Given the description of an element on the screen output the (x, y) to click on. 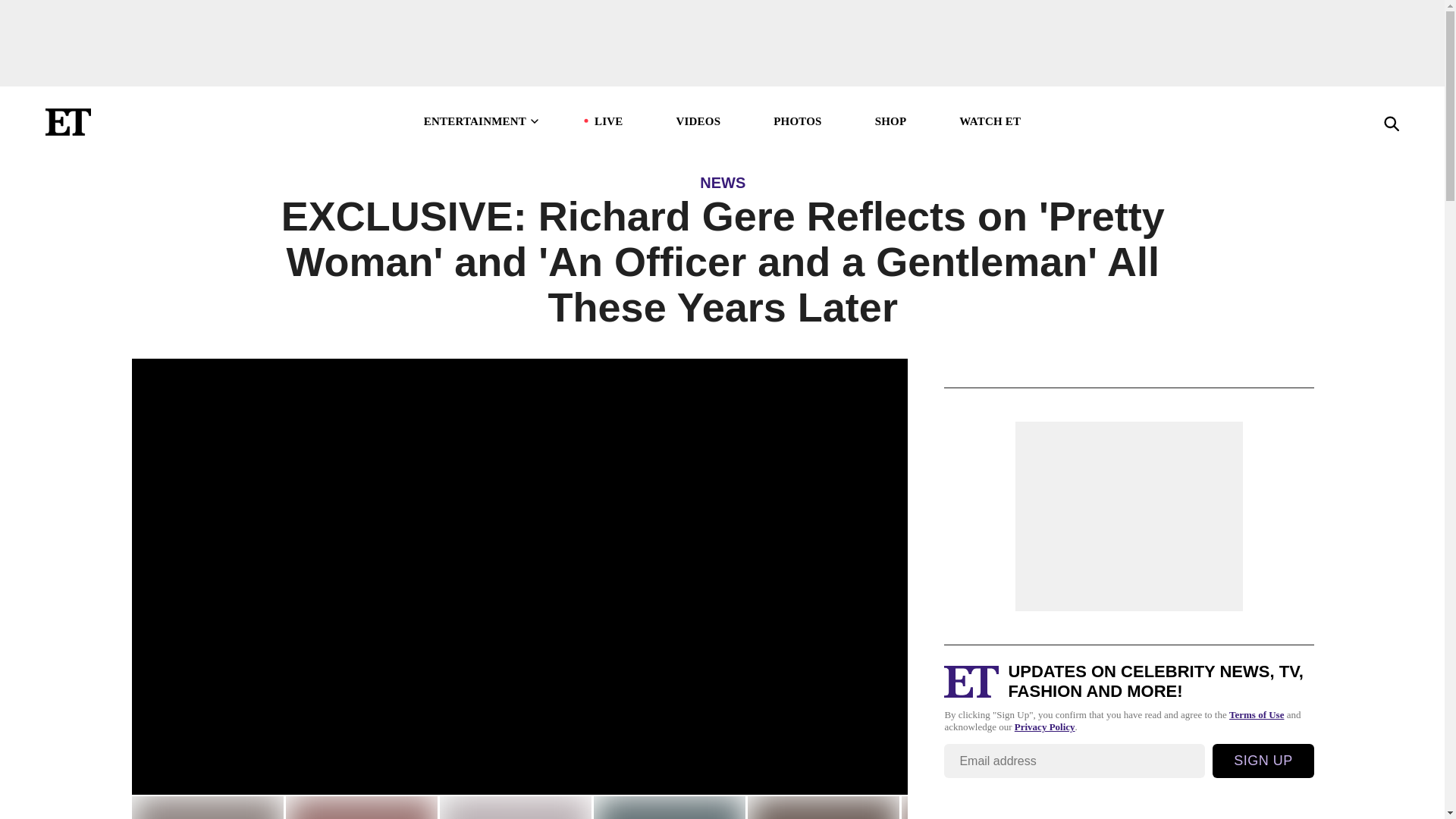
VIDEOS (697, 120)
WATCH ET (989, 120)
LIVE (608, 120)
SHOP (891, 120)
PHOTOS (797, 120)
ENTERTAINMENT (482, 120)
NEWS (668, 807)
